Given the description of an element on the screen output the (x, y) to click on. 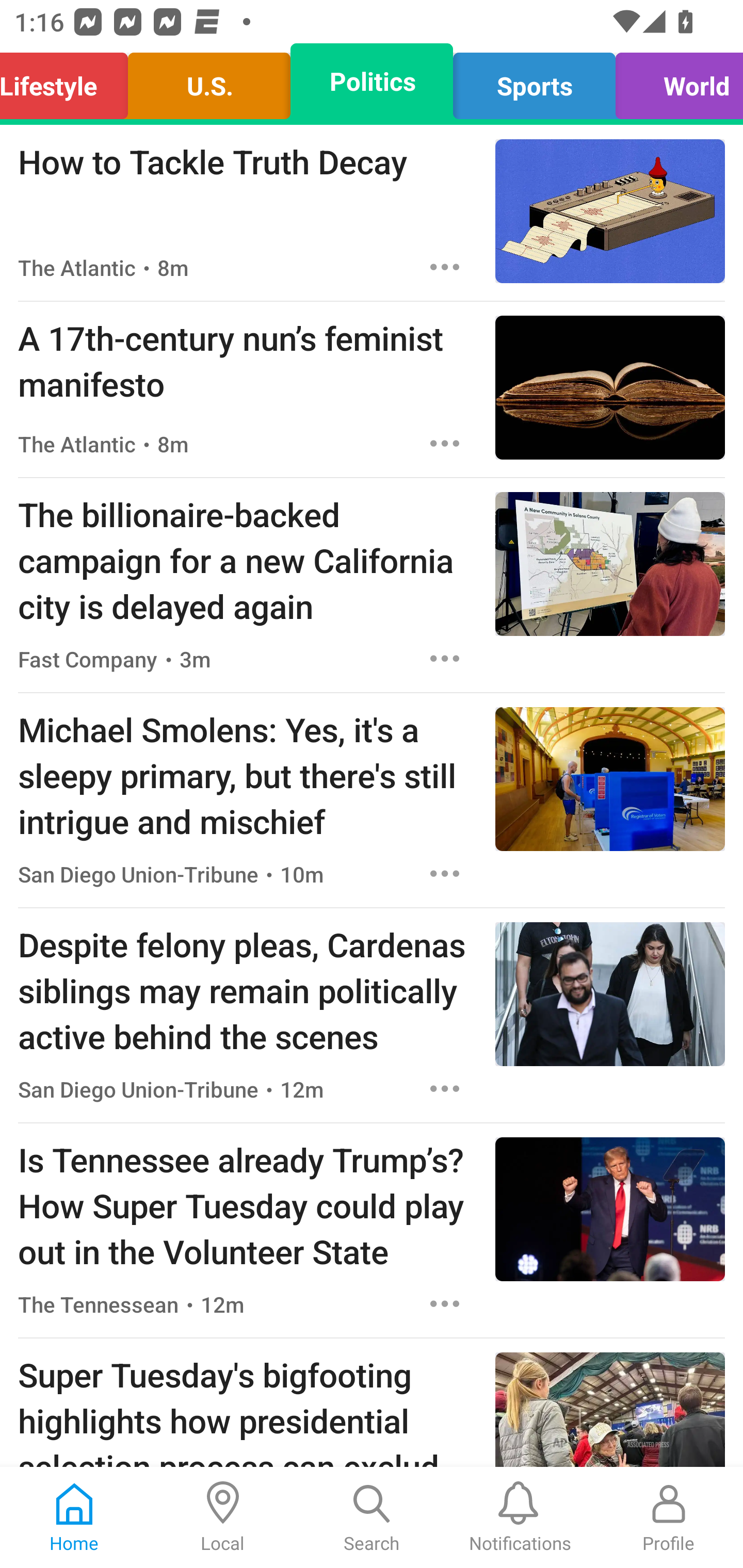
Lifestyle (69, 81)
U.S. (209, 81)
Politics (371, 81)
Sports (534, 81)
World (673, 81)
Options (444, 267)
Options (444, 443)
Options (444, 658)
Options (444, 873)
Options (444, 1088)
Options (444, 1303)
Local (222, 1517)
Search (371, 1517)
Notifications (519, 1517)
Profile (668, 1517)
